Given the description of an element on the screen output the (x, y) to click on. 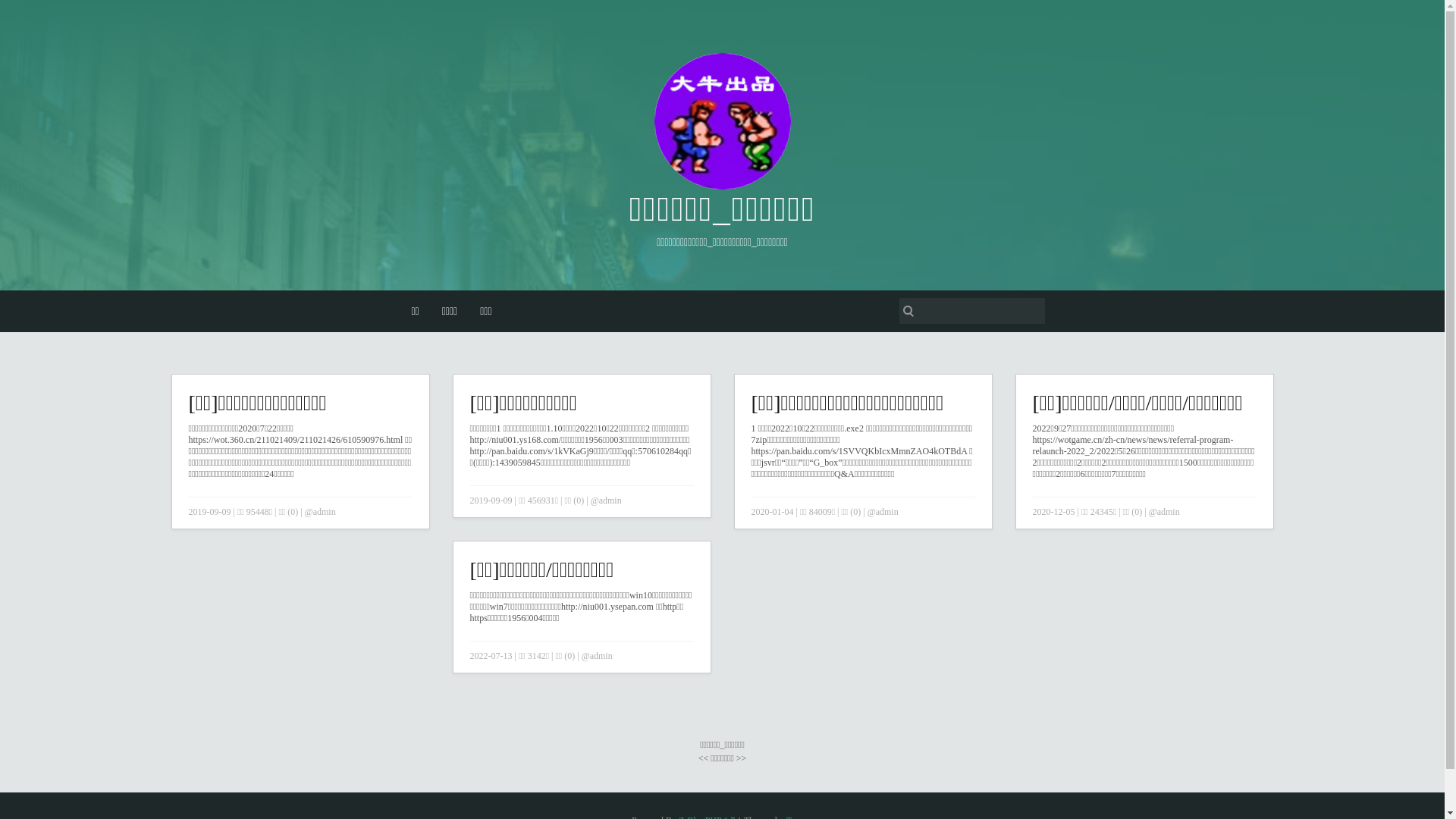
admin Element type: text (1168, 511)
admin Element type: text (324, 511)
admin Element type: text (610, 500)
admin Element type: text (886, 511)
admin Element type: text (600, 655)
